Given the description of an element on the screen output the (x, y) to click on. 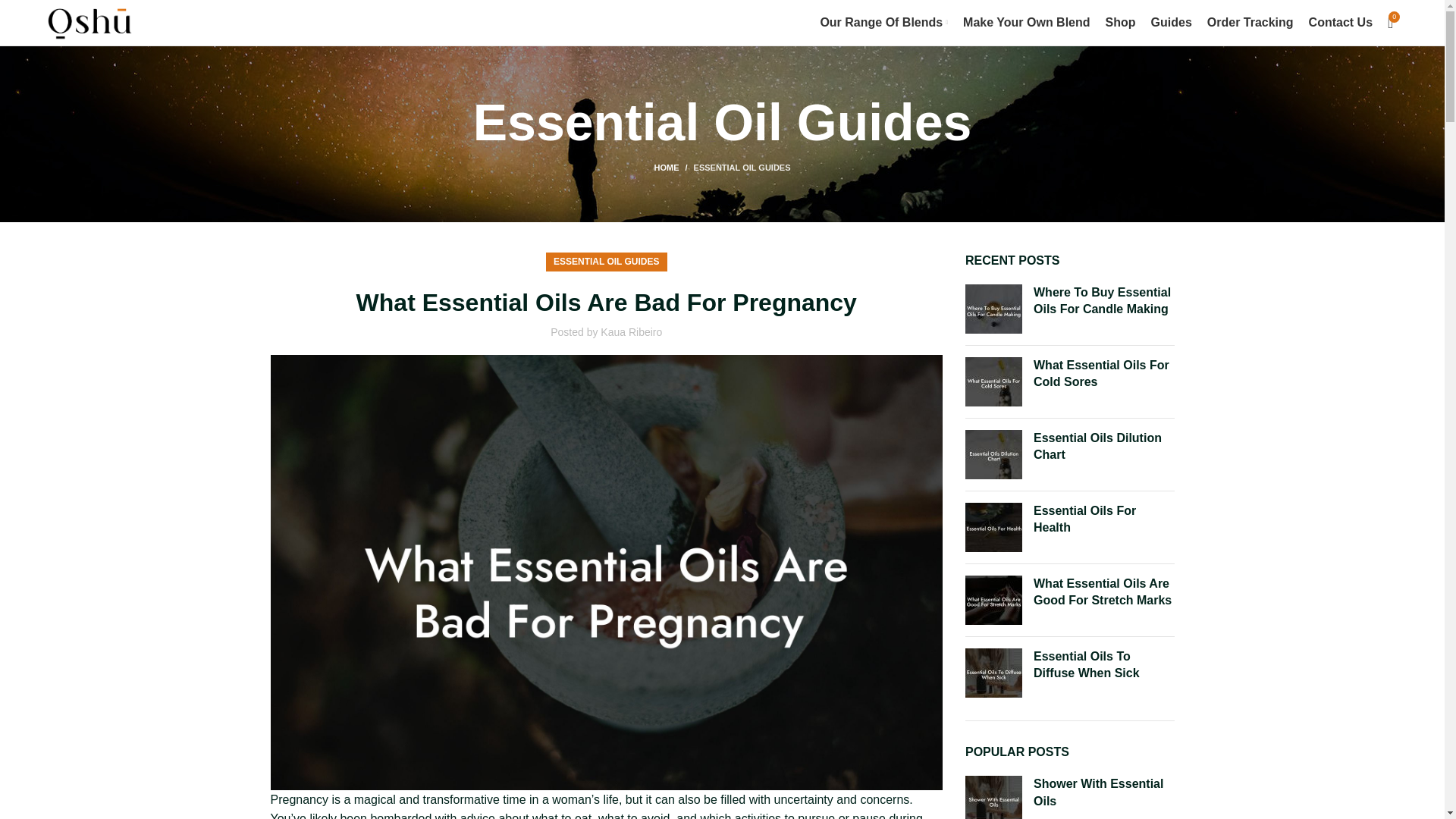
Shop (1120, 22)
Make Your Own Blend (1025, 22)
Our Range Of Blends (883, 22)
ESSENTIAL OIL GUIDES (606, 261)
Kaua Ribeiro (630, 331)
HOME (673, 167)
Guides (1171, 22)
Order Tracking (1250, 22)
Contact Us (1340, 22)
